Given the description of an element on the screen output the (x, y) to click on. 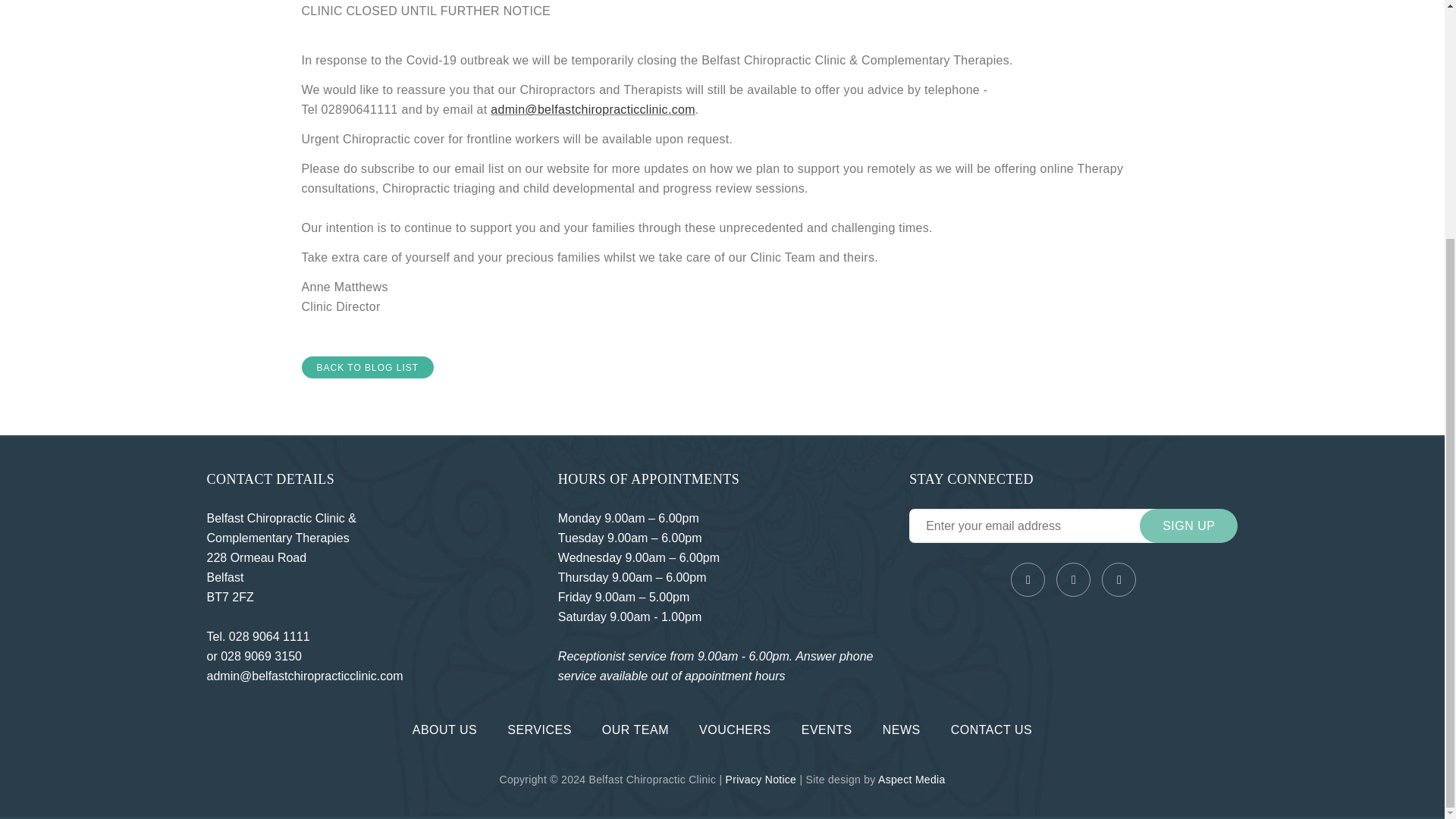
VOUCHERS (734, 730)
BACK TO BLOG LIST (367, 367)
ABOUT US (444, 730)
NEWS (901, 730)
Aspect Media (910, 779)
Privacy Notice (760, 779)
CONTACT US (991, 730)
OUR TEAM (635, 730)
EVENTS (826, 730)
SIGN UP (1188, 525)
SERVICES (539, 730)
